Given the description of an element on the screen output the (x, y) to click on. 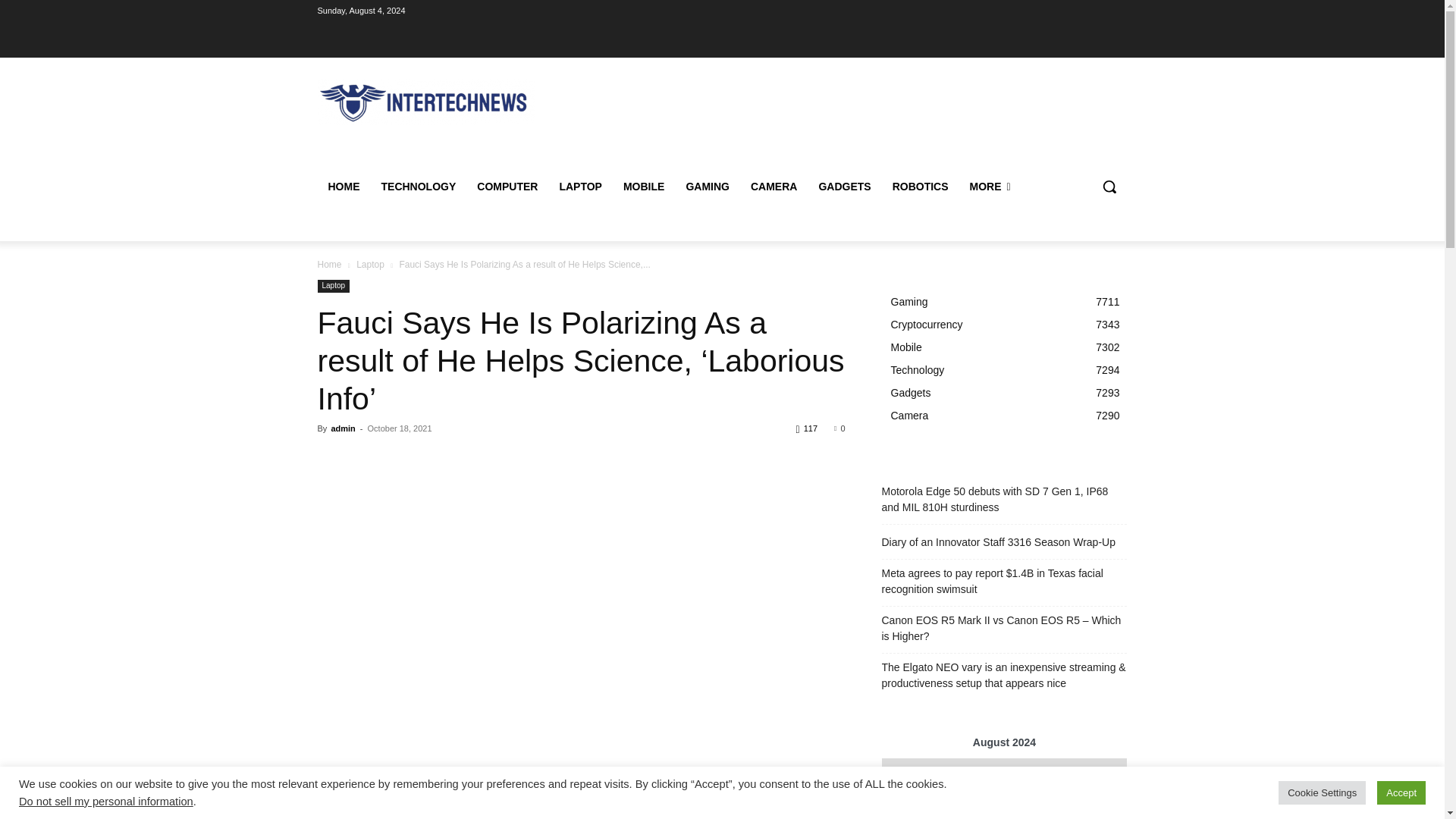
MOBILE (643, 186)
MORE (990, 186)
LAPTOP (580, 186)
TECHNOLOGY (417, 186)
View all posts in Laptop (370, 264)
Home (328, 264)
GAMING (707, 186)
CAMERA (773, 186)
ROBOTICS (920, 186)
HOME (343, 186)
